Given the description of an element on the screen output the (x, y) to click on. 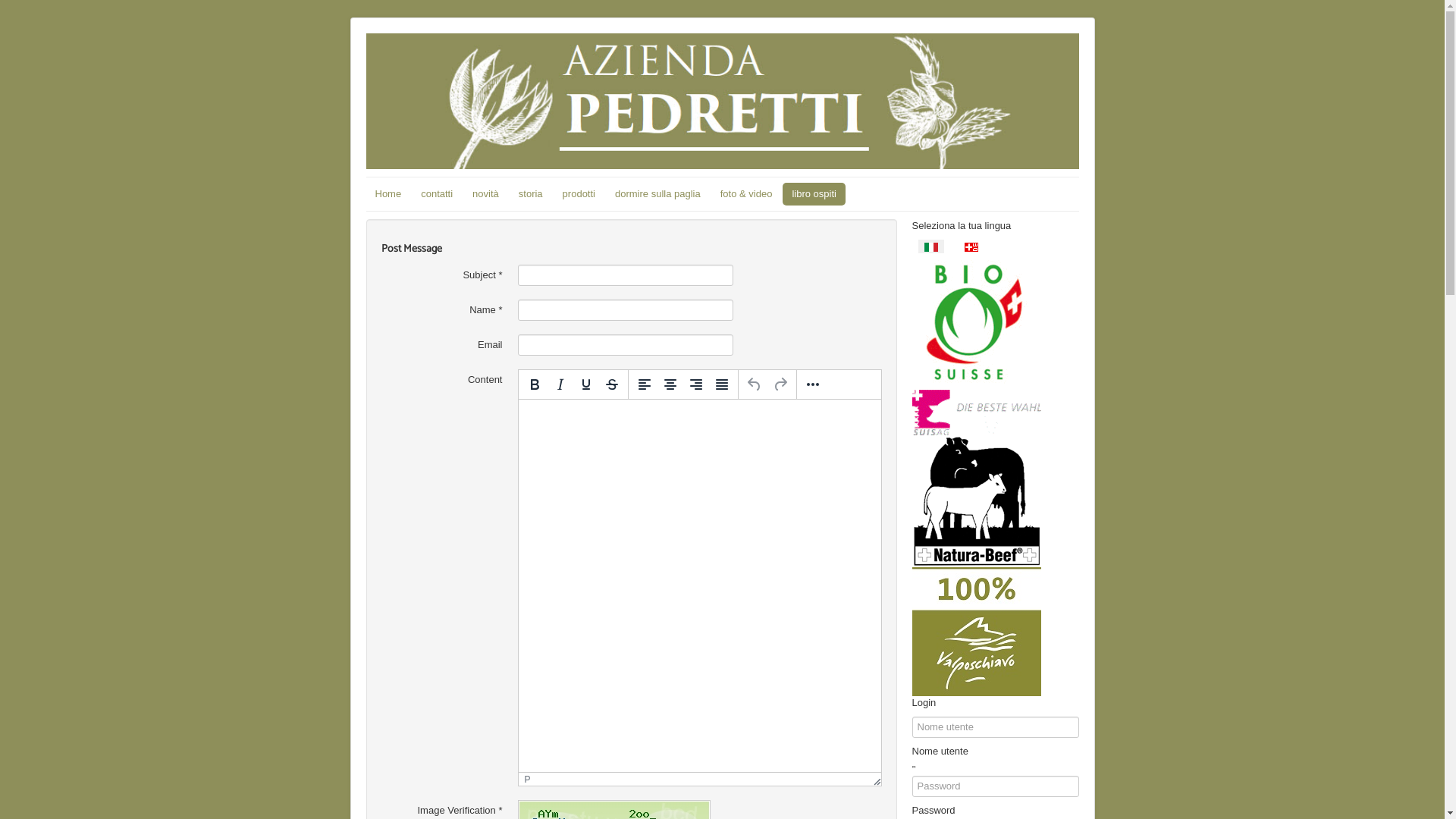
dormire sulla paglia Element type: text (657, 193)
Nome utente Element type: hover (917, 768)
Grassetto Element type: hover (534, 384)
naturabeef Element type: hover (975, 500)
More... Element type: hover (812, 384)
Corsivo Element type: hover (560, 384)
Allinea a Destra Element type: hover (695, 384)
Allinea al Centro Element type: hover (669, 384)
storia Element type: text (530, 193)
Giustifica Element type: hover (721, 384)
Home Element type: text (387, 193)
prodotti Element type: text (578, 193)
foto & video Element type: text (746, 193)
Deutsch (Deutschland) Element type: hover (971, 246)
contatti Element type: text (436, 193)
Italiano (IT) Element type: hover (930, 246)
suisag Element type: hover (975, 411)
libro ospiti Element type: text (813, 193)
Sottolineato Element type: hover (586, 384)
Ripristina Element type: hover (780, 384)
Barrato Element type: hover (611, 384)
Rich Text Area Element type: hover (699, 585)
100VP Element type: hover (975, 631)
Ridimensiona Element type: hover (874, 778)
gemma Element type: hover (975, 320)
Allinea a Sinistra Element type: hover (643, 384)
Annulla Element type: hover (754, 384)
